Given the description of an element on the screen output the (x, y) to click on. 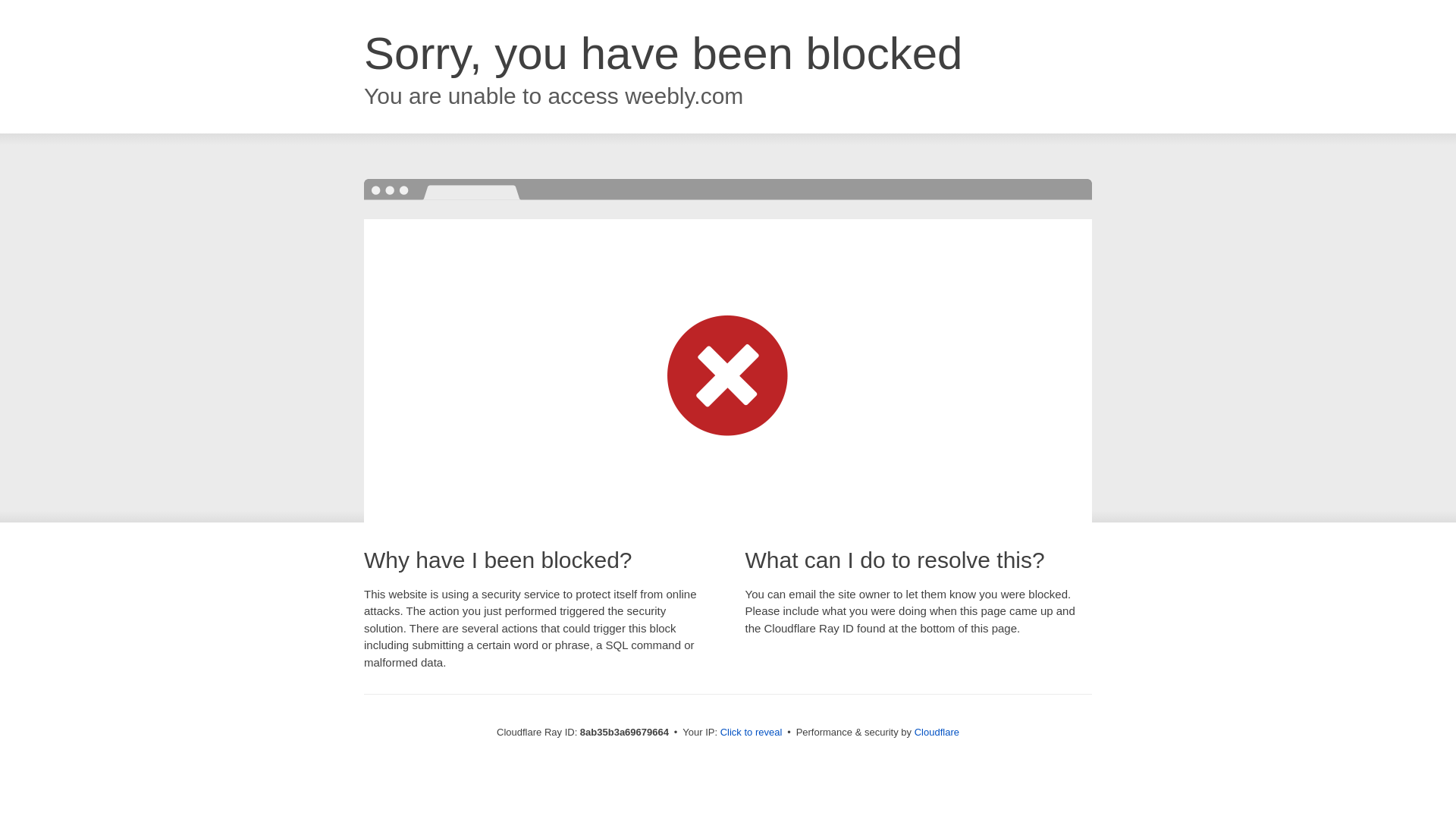
Cloudflare (936, 731)
Click to reveal (751, 732)
